Given the description of an element on the screen output the (x, y) to click on. 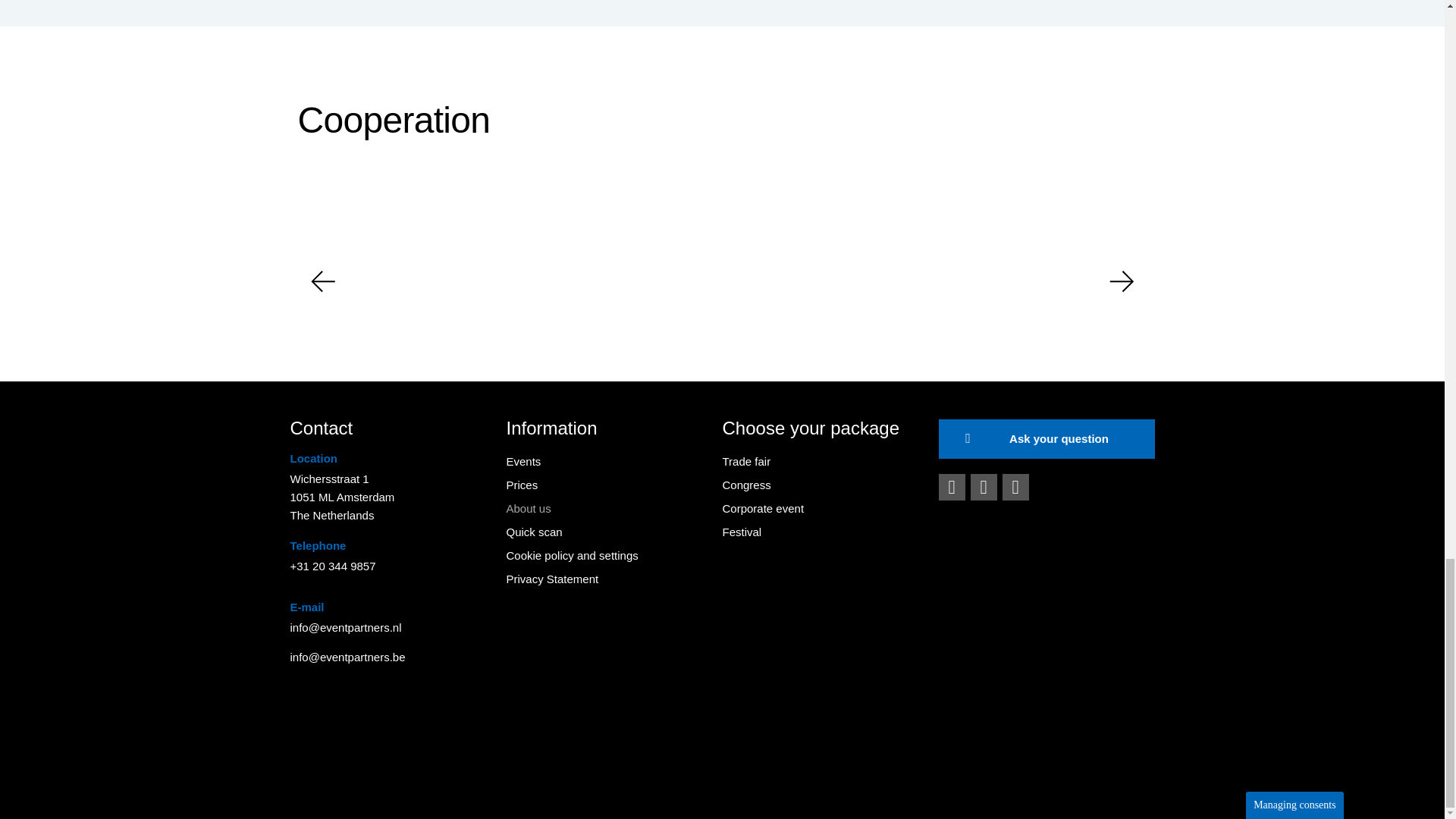
About us (614, 508)
Events (614, 461)
Prices (614, 484)
